Given the description of an element on the screen output the (x, y) to click on. 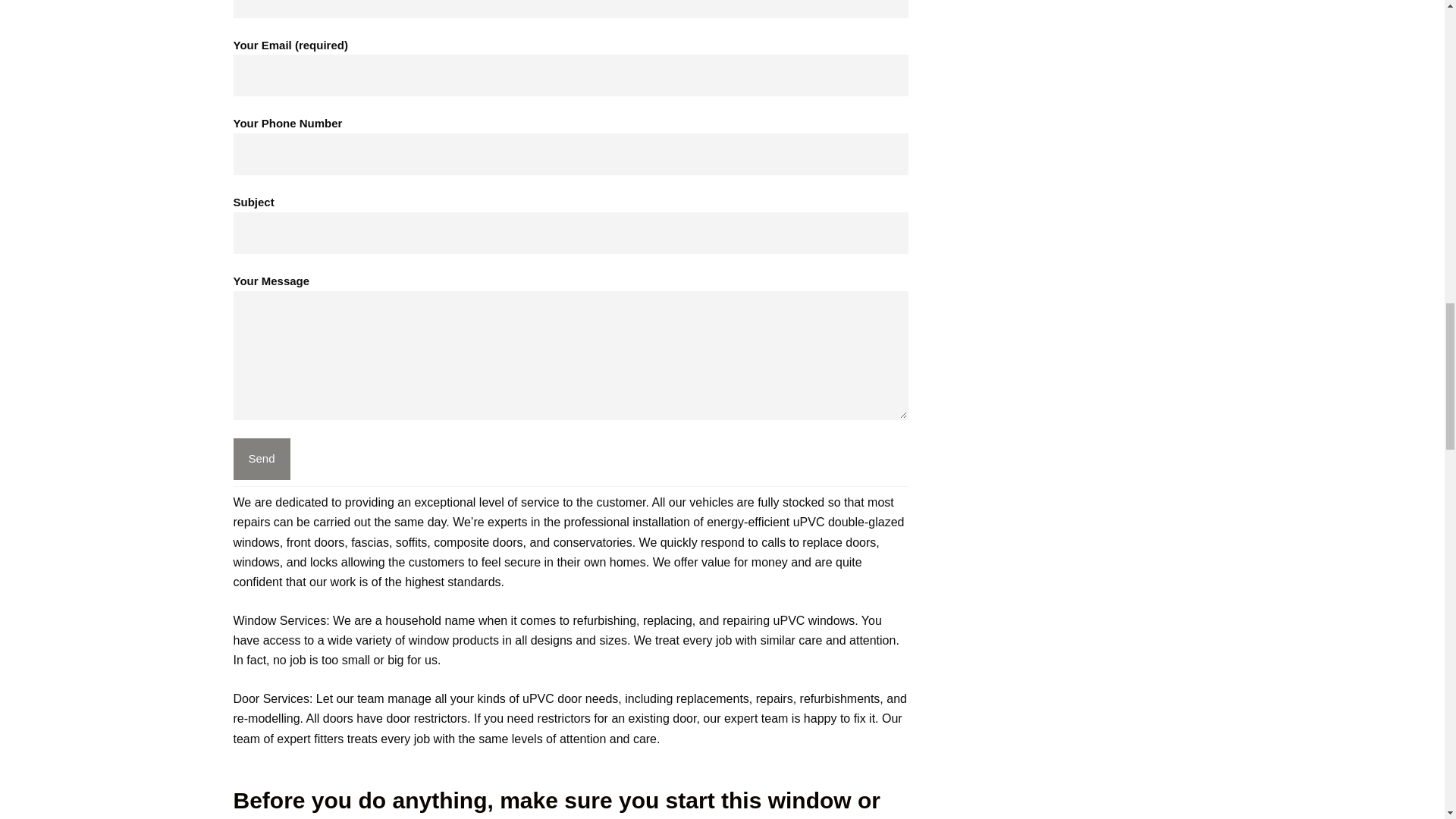
Send (260, 458)
Send (260, 458)
